Given the description of an element on the screen output the (x, y) to click on. 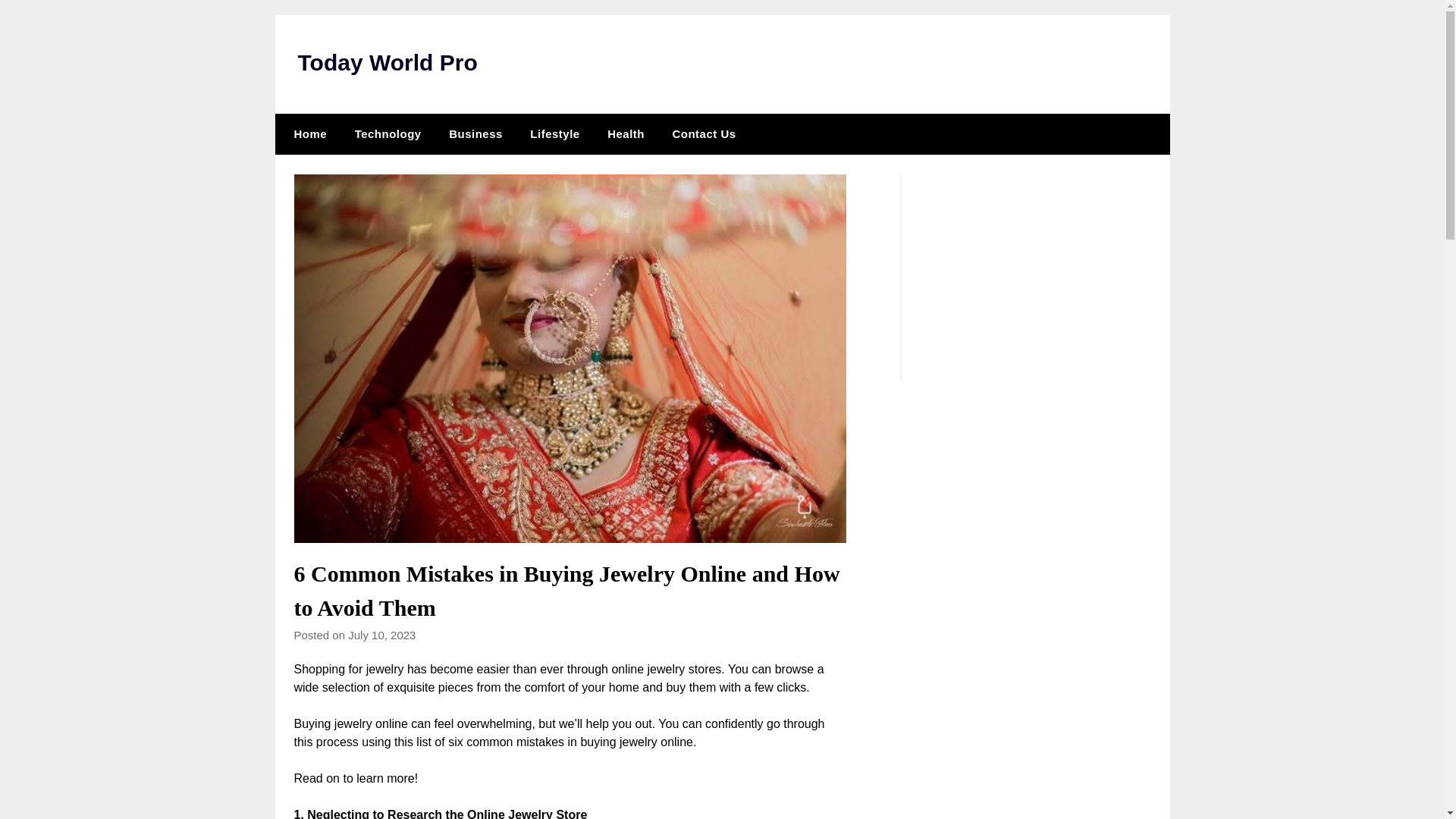
Today World Pro (387, 62)
Technology (387, 133)
Home (307, 133)
Contact Us (703, 133)
Business (475, 133)
Health (625, 133)
Lifestyle (554, 133)
